Given the description of an element on the screen output the (x, y) to click on. 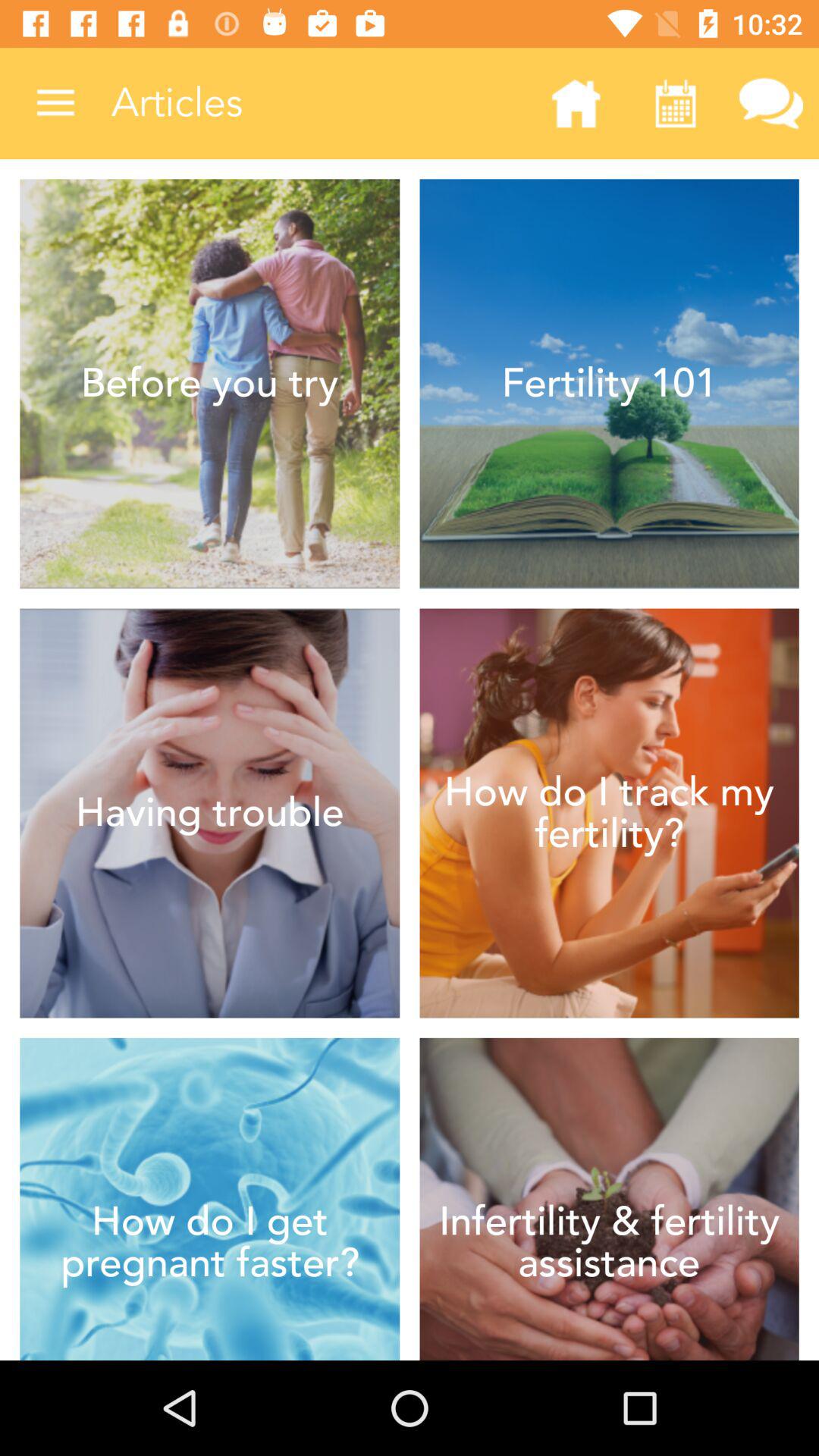
turn on the item next to articles icon (55, 103)
